Given the description of an element on the screen output the (x, y) to click on. 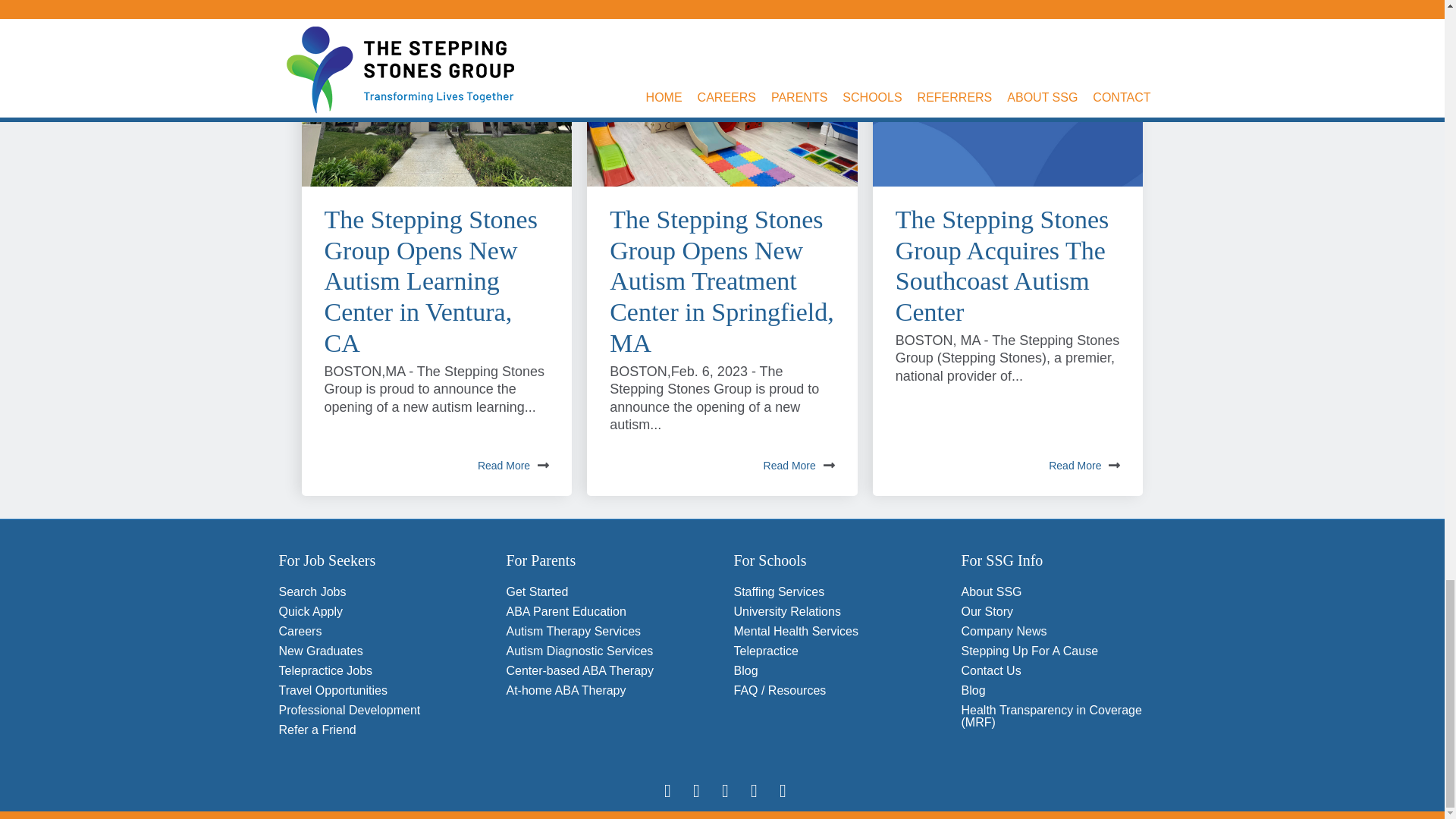
Quick Apply (310, 611)
Read More (512, 466)
Read More (1083, 466)
New Graduates (320, 650)
Read More (798, 466)
Search Jobs (312, 591)
Careers (300, 631)
